Given the description of an element on the screen output the (x, y) to click on. 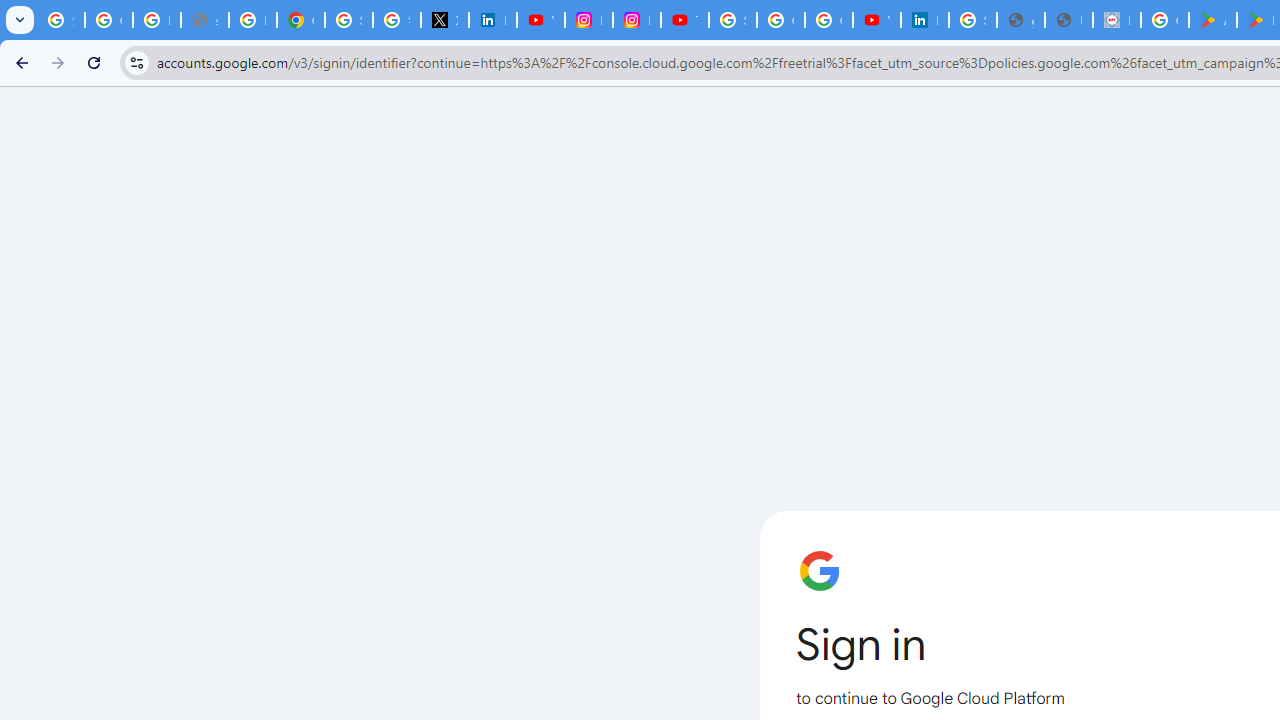
Sign in - Google Accounts (732, 20)
LinkedIn Privacy Policy (492, 20)
Sign in - Google Accounts (348, 20)
YouTube Content Monetization Policies - How YouTube Works (540, 20)
Data Privacy Framework (1116, 20)
X (444, 20)
